Given the description of an element on the screen output the (x, y) to click on. 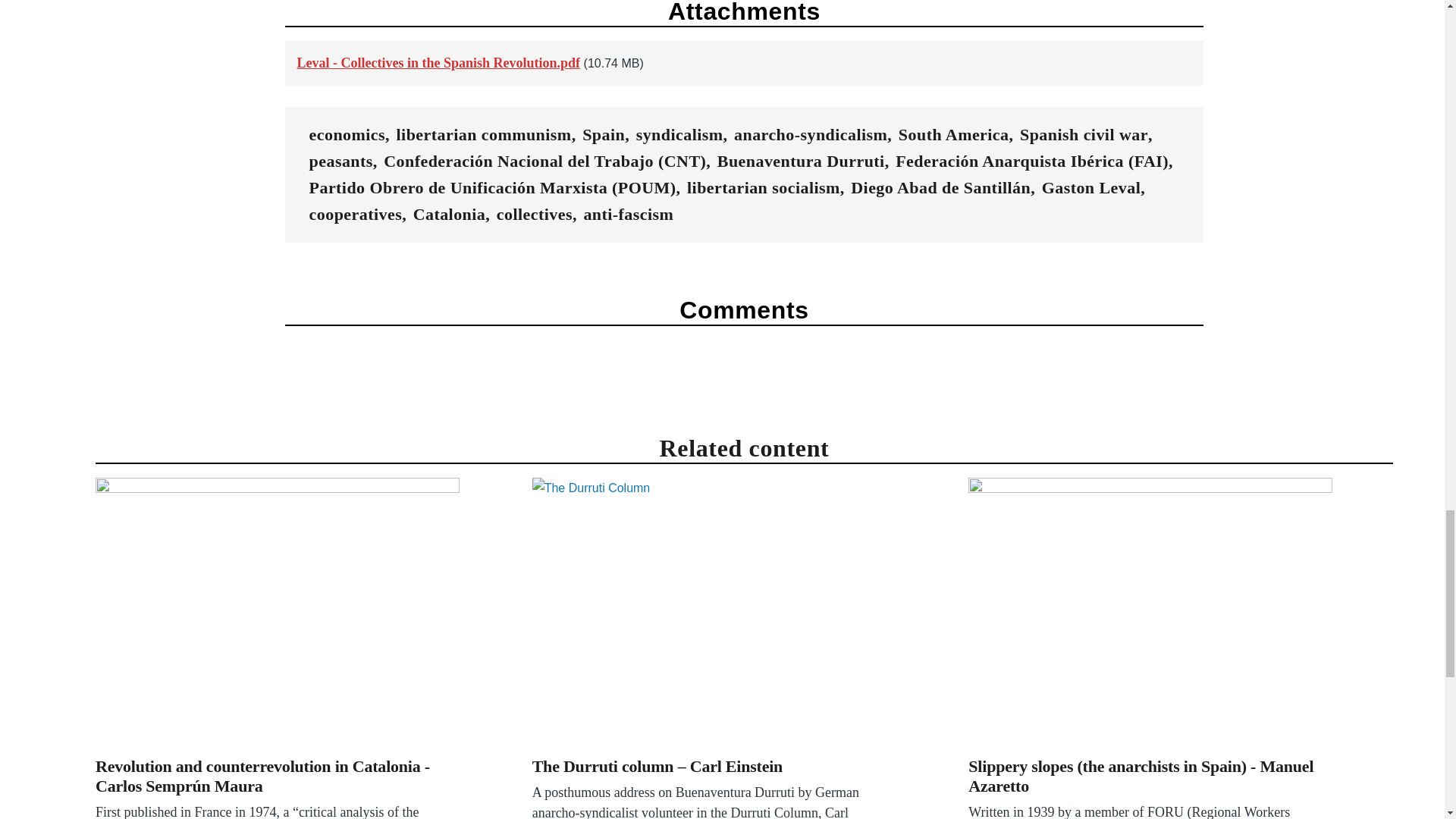
South America (953, 134)
Leval - Collectives in the Spanish Revolution.pdf (438, 62)
syndicalism (679, 134)
libertarian communism (484, 134)
Gaston Leval (1091, 188)
The Central Committee of Antifascist Militias (1150, 614)
cooperatives (355, 214)
Catalonia (449, 214)
Buenaventura Durruti (801, 161)
The Durruti Column (714, 614)
